Given the description of an element on the screen output the (x, y) to click on. 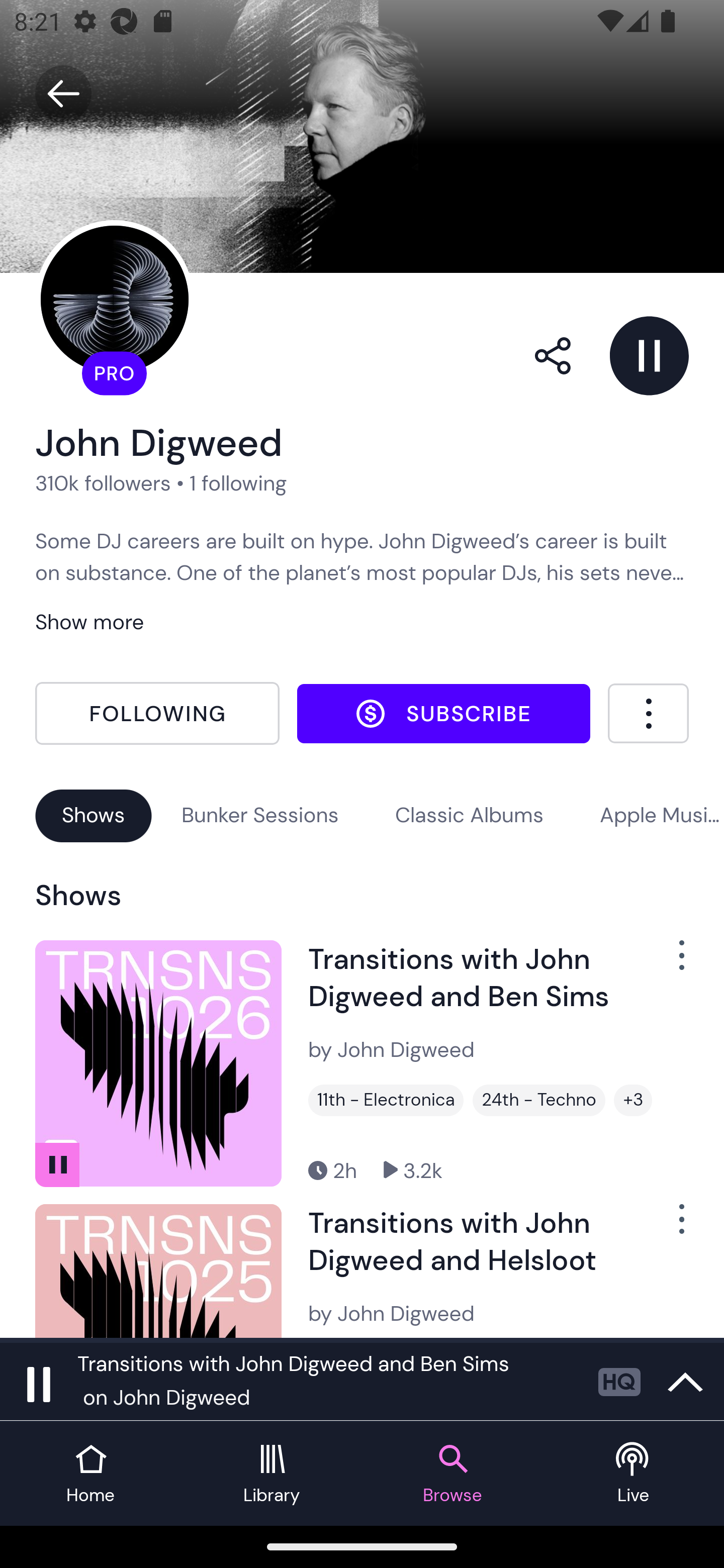
310k followers (102, 482)
1 following (238, 482)
Following FOLLOWING (157, 713)
More Menu (648, 713)
Subscribe SUBSCRIBE (443, 713)
Shows (93, 815)
Bunker Sessions (259, 815)
Classic Albums (469, 815)
Apple Music Compiled and Mixed (661, 815)
Show Options Menu Button (670, 963)
11th - Electronica (385, 1100)
24th - Techno (538, 1100)
Show Options Menu Button (670, 1226)
Home tab Home (90, 1473)
Library tab Library (271, 1473)
Browse tab Browse (452, 1473)
Live tab Live (633, 1473)
